Given the description of an element on the screen output the (x, y) to click on. 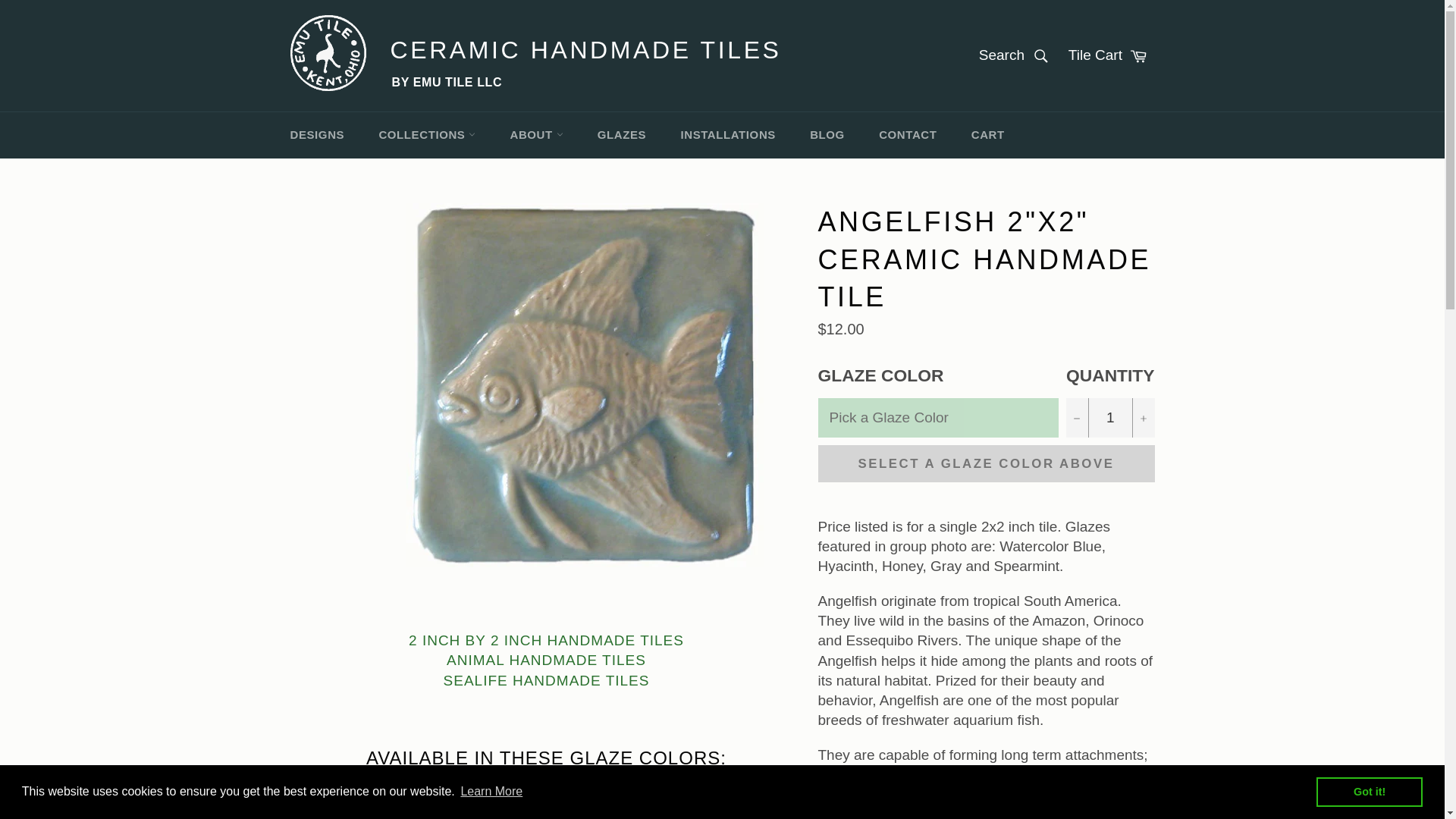
Learn More (491, 791)
Click to see the ceramic glaze color sample page. (546, 816)
Got it! (1369, 791)
1 (1109, 417)
